Given the description of an element on the screen output the (x, y) to click on. 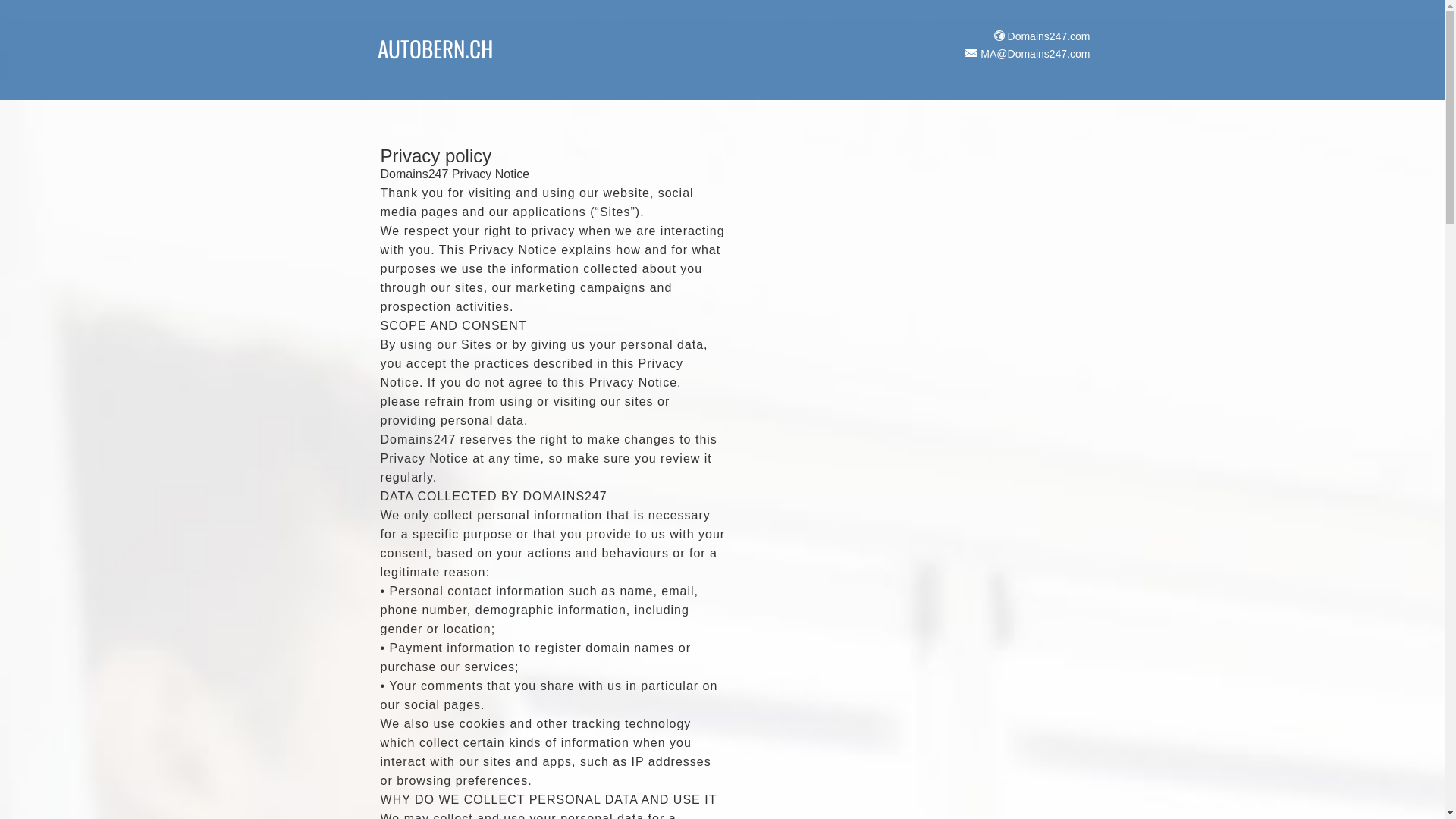
MA@Domains247.com Element type: text (1025, 53)
Domains247.com Element type: text (1040, 35)
